Given the description of an element on the screen output the (x, y) to click on. 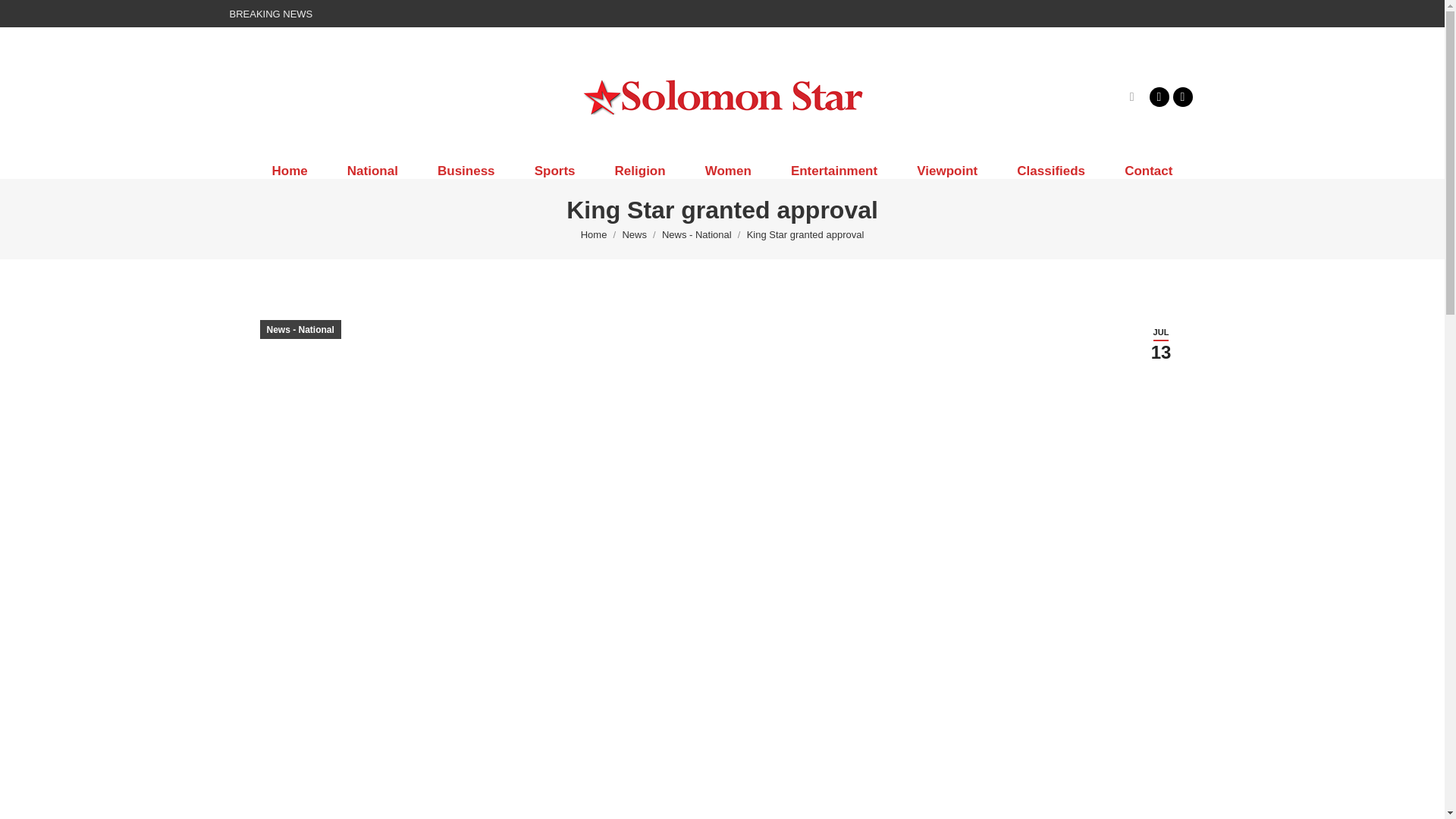
News (633, 234)
News - National (697, 234)
X page opens in new window (1182, 96)
Go! (24, 17)
Facebook page opens in new window (1159, 96)
National (372, 170)
News (633, 234)
10:10 pm (1161, 343)
News - National (697, 234)
